Given the description of an element on the screen output the (x, y) to click on. 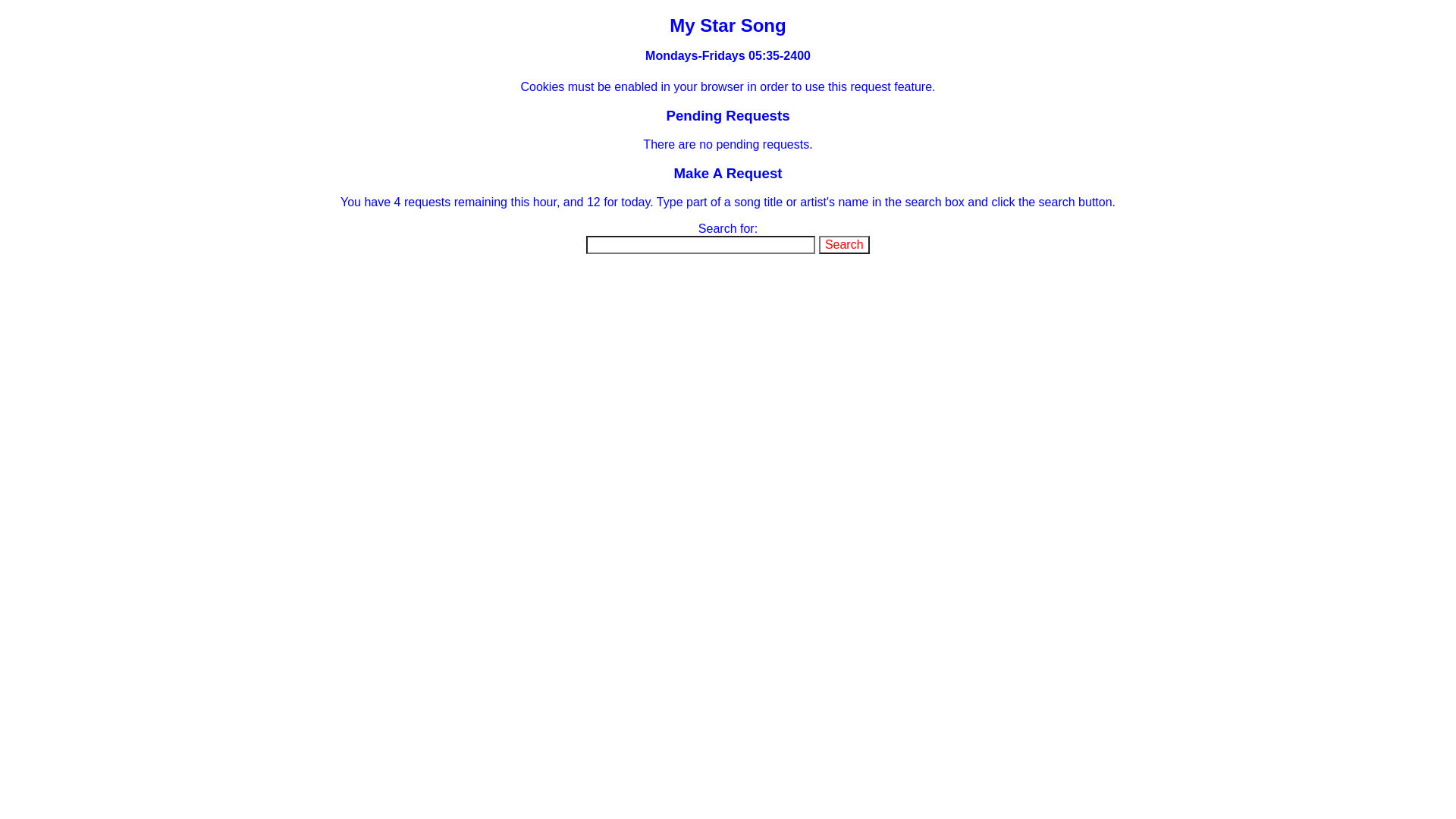
Search Element type: text (844, 244)
